Given the description of an element on the screen output the (x, y) to click on. 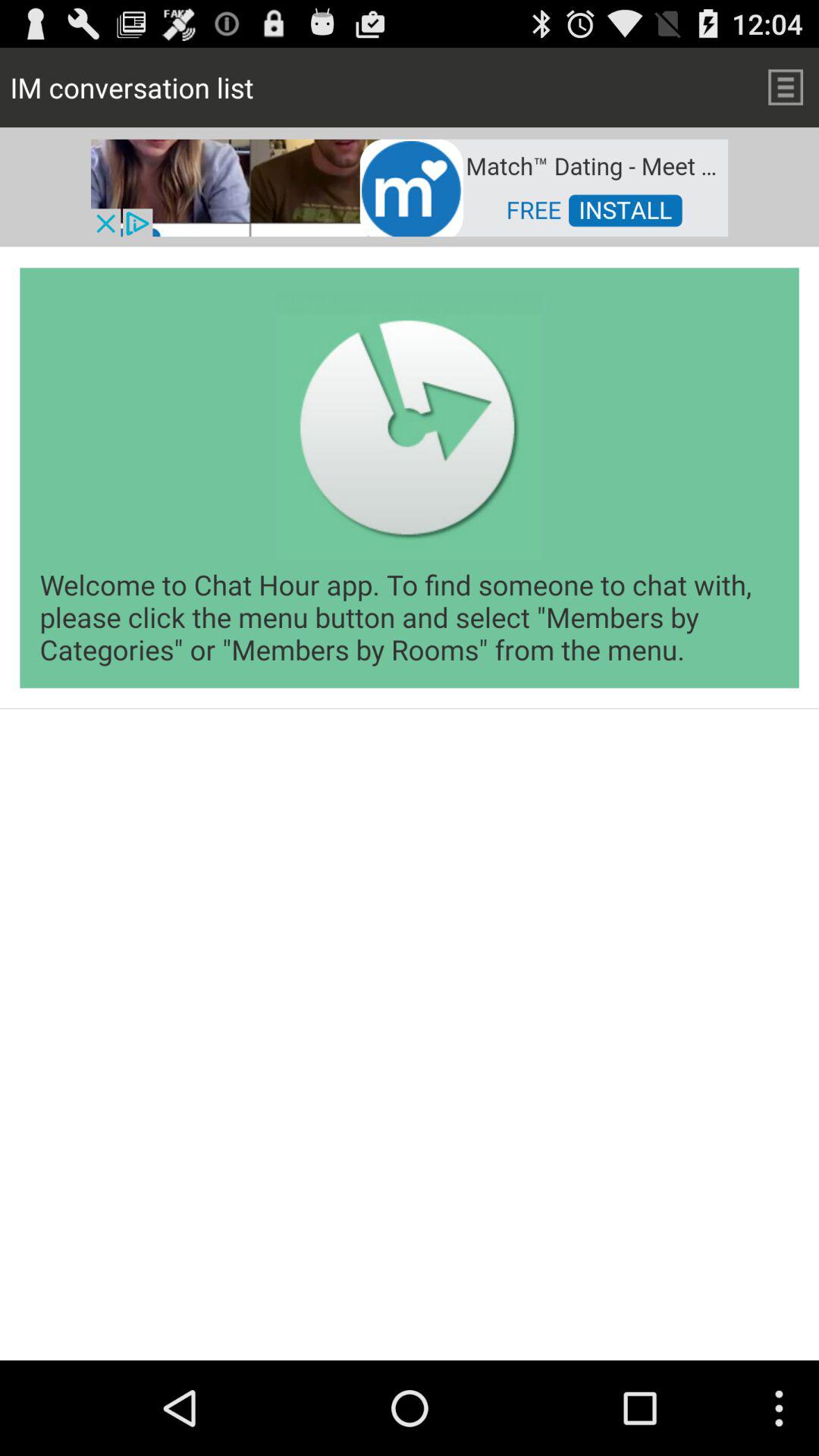
more (785, 87)
